Given the description of an element on the screen output the (x, y) to click on. 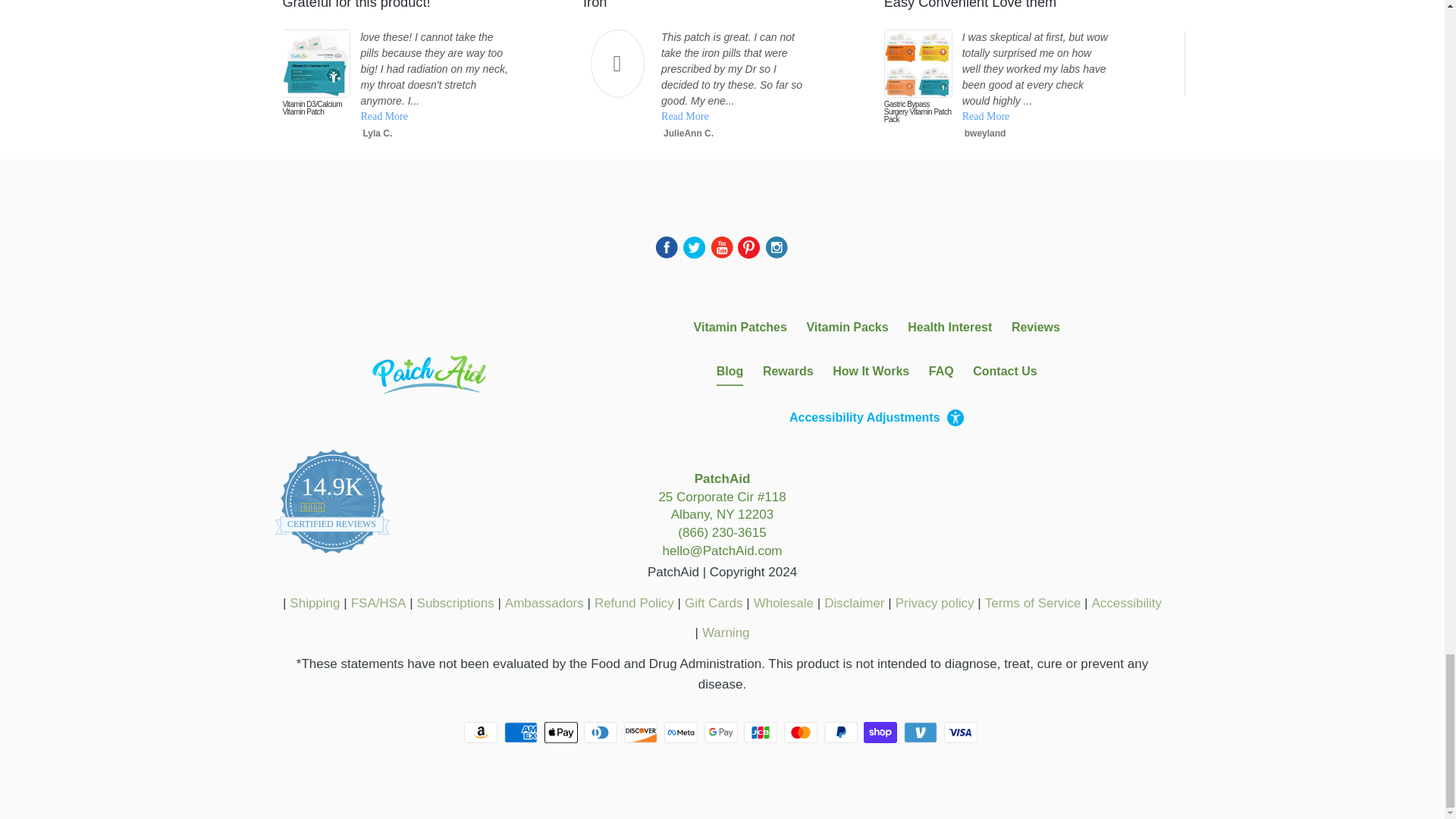
Amazon (482, 732)
American Express (521, 732)
Apple Pay (562, 732)
JCB (762, 732)
Mastercard (802, 732)
PayPal (842, 732)
Discover (642, 732)
Diners Club (601, 732)
Google Pay (721, 732)
Venmo (922, 732)
Shop Pay (881, 732)
Meta Pay (681, 732)
Visa (961, 732)
